Given the description of an element on the screen output the (x, y) to click on. 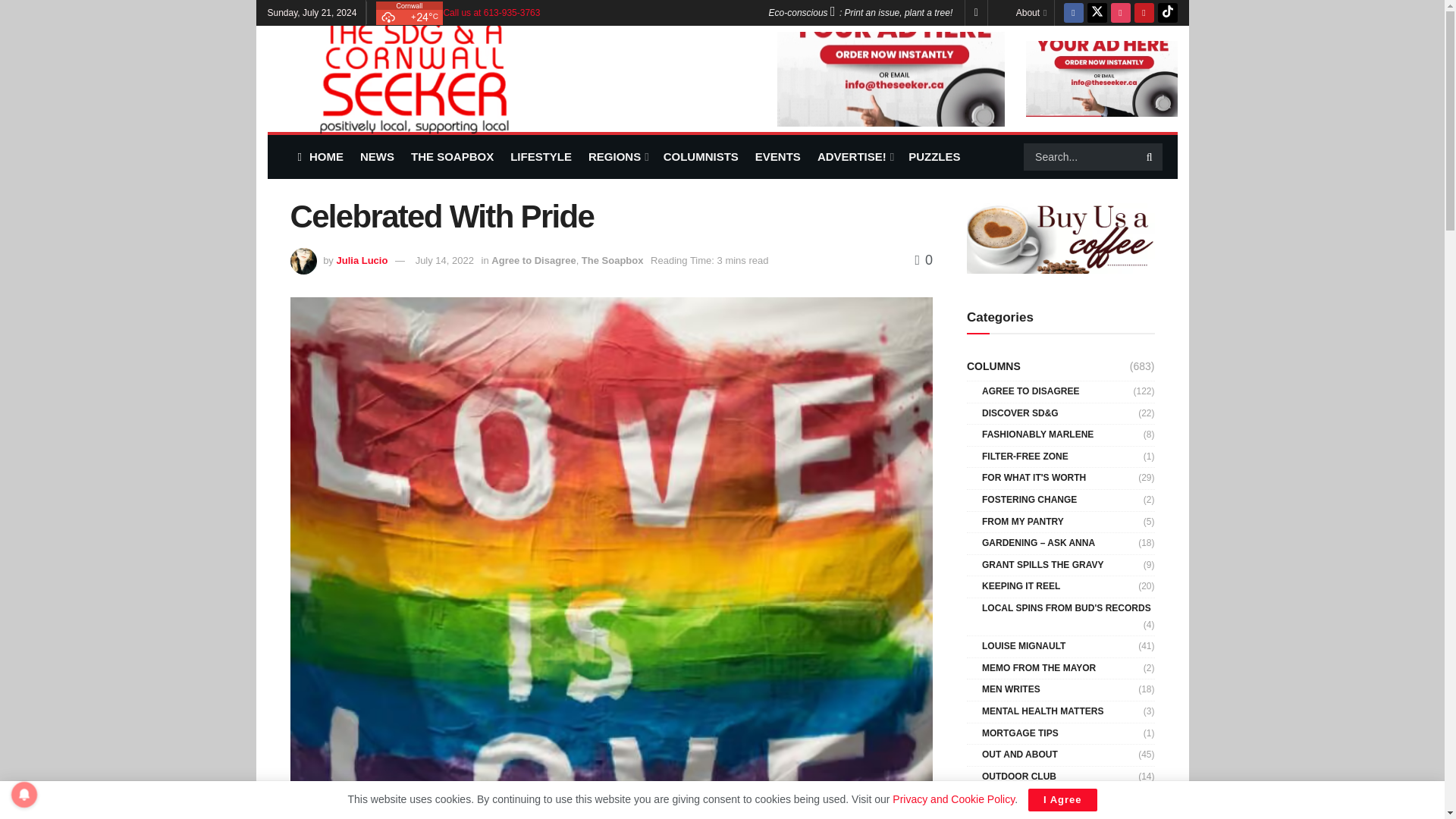
LIFESTYLE (541, 156)
EVENTS (777, 156)
About (1030, 12)
THE SOAPBOX (451, 156)
REGIONS (617, 156)
Call us at 613-935-3763 (491, 12)
COLUMNISTS (700, 156)
ADVERTISE! (853, 156)
HOME (319, 156)
PUZZLES (933, 156)
NEWS (376, 156)
